Given the description of an element on the screen output the (x, y) to click on. 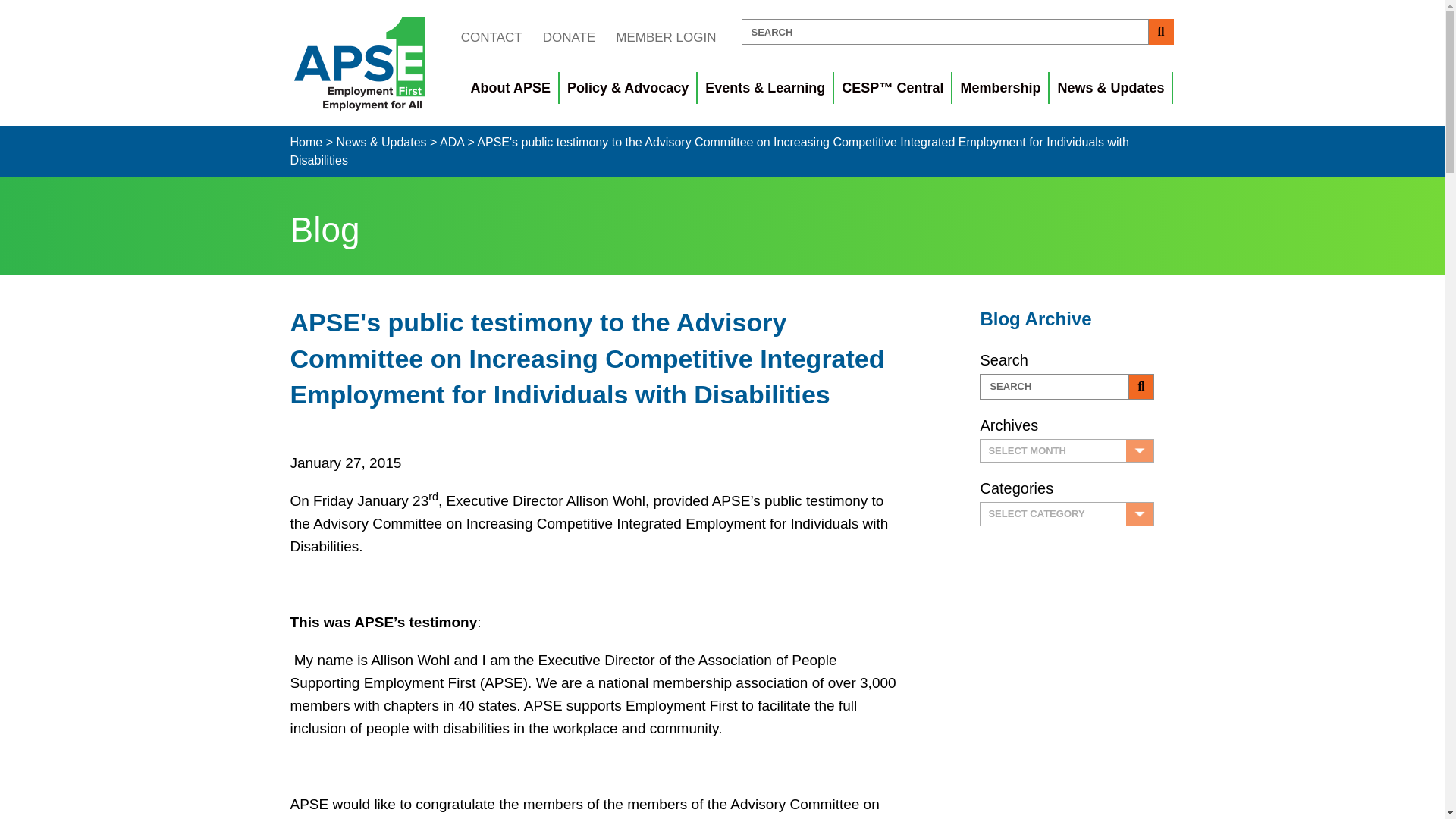
About APSE (511, 88)
Type and press Enter to search. (957, 31)
SEARCH (1053, 393)
MEMBER LOGIN (665, 37)
SEARCH (944, 31)
Membership (1000, 88)
DONATE (568, 37)
SEARCH (1053, 393)
CONTACT (491, 37)
SEARCH (944, 31)
Type and press Enter to search. (1066, 393)
